Given the description of an element on the screen output the (x, y) to click on. 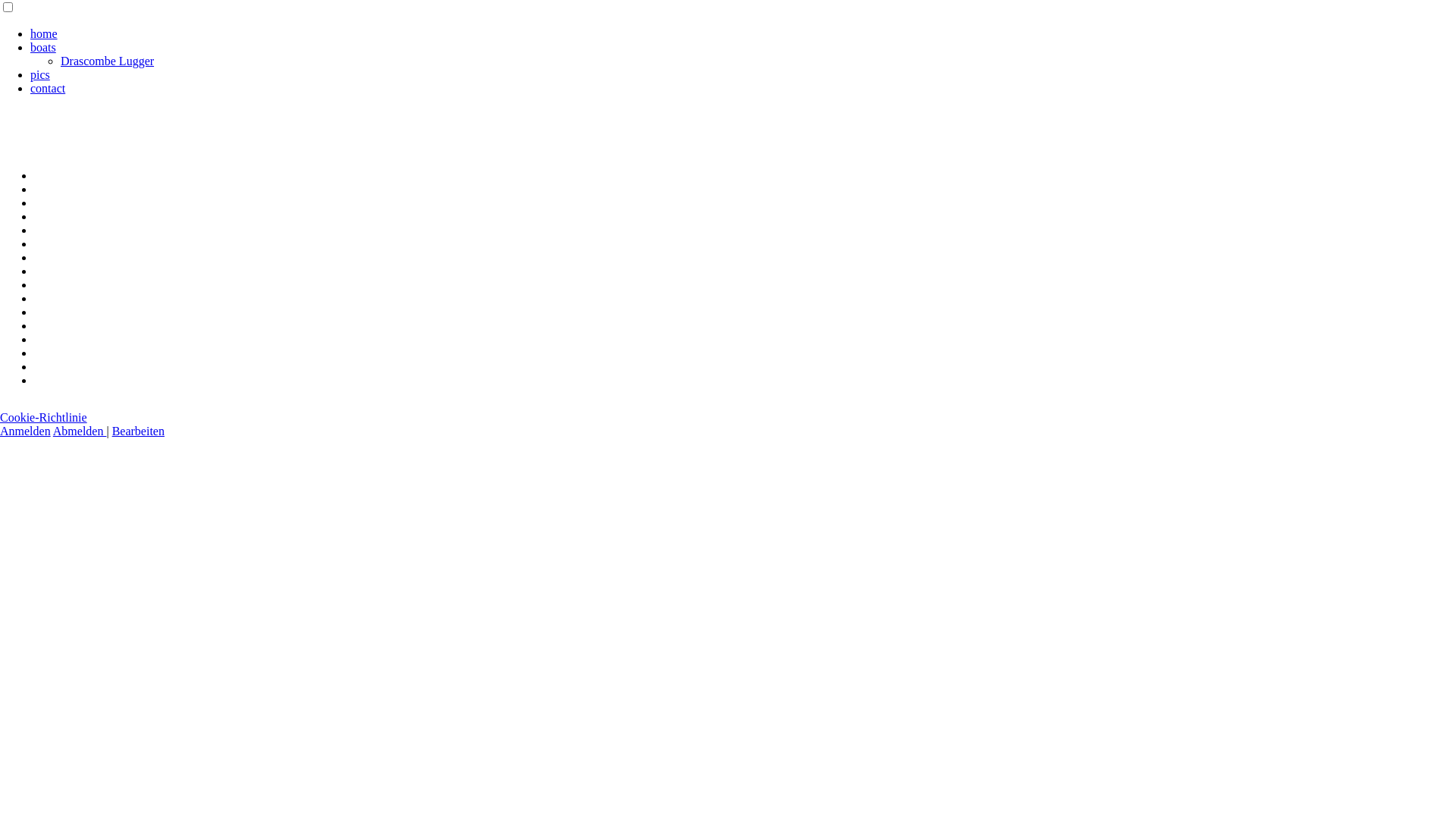
Anmelden Element type: text (25, 430)
home Element type: text (43, 33)
Cookie-Richtlinie Element type: text (43, 417)
Abmelden Element type: text (79, 430)
Bearbeiten Element type: text (138, 430)
boats Element type: text (43, 46)
pics Element type: text (40, 74)
Drascombe Lugger Element type: text (106, 60)
contact Element type: text (47, 87)
